Given the description of an element on the screen output the (x, y) to click on. 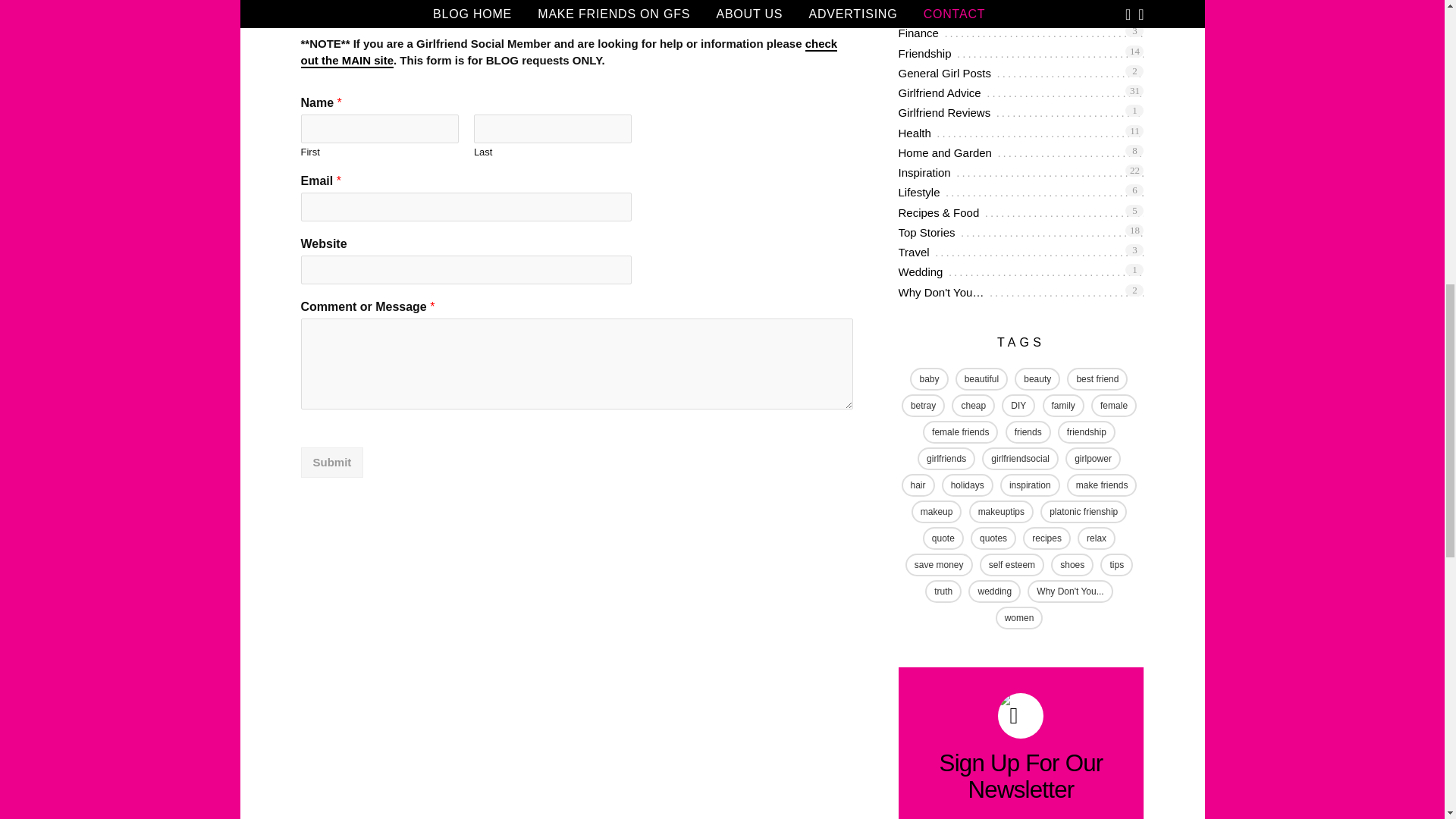
baby (1020, 93)
Submit (1020, 54)
beautiful (928, 377)
check out the MAIN site (1020, 132)
betray (1020, 172)
